Given the description of an element on the screen output the (x, y) to click on. 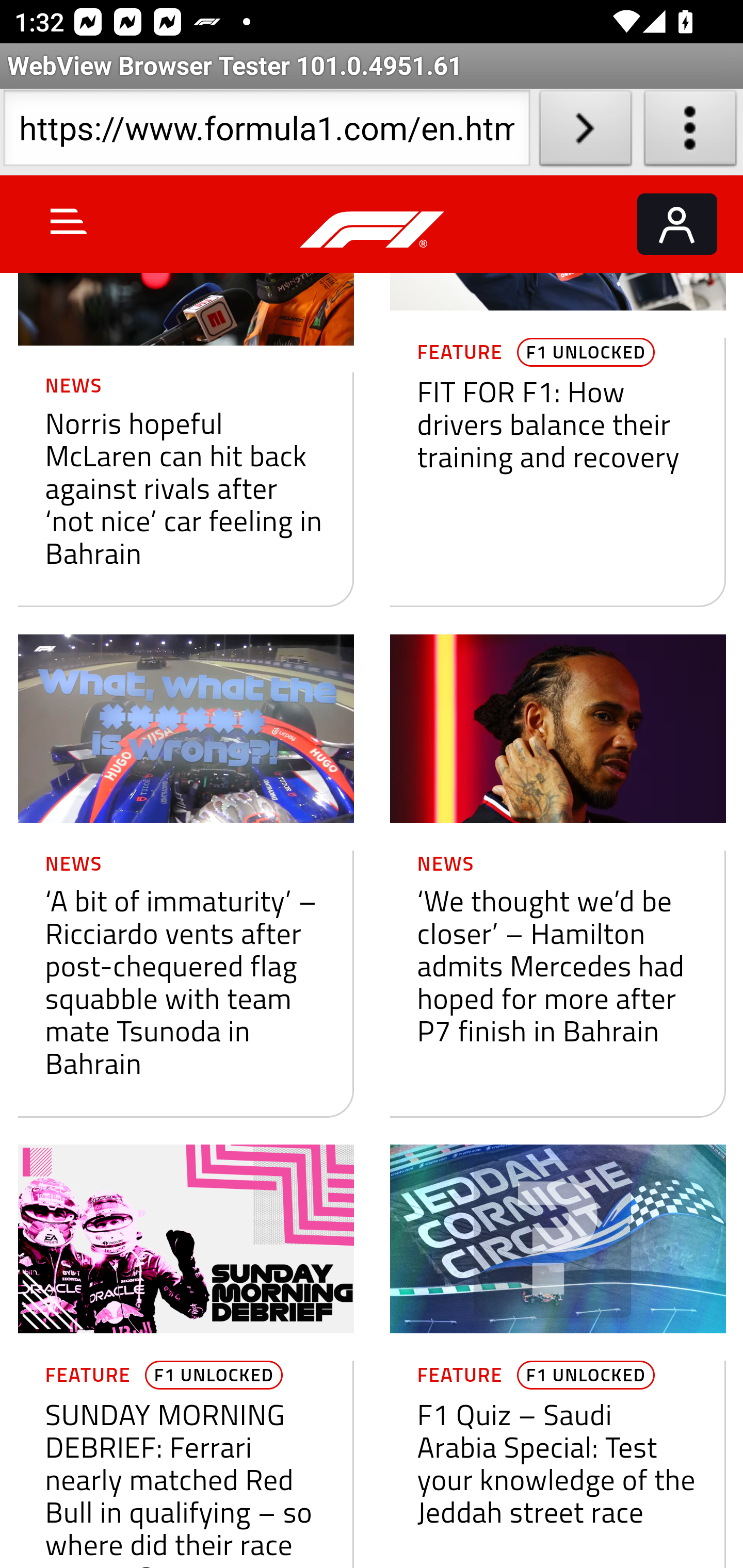
https://www.formula1.com/en.html (266, 132)
Load URL (585, 132)
About WebView (690, 132)
Toggle Menu (68, 220)
Formula 1 (372, 230)
 Login/Register  Login/Register (677, 223)
